Given the description of an element on the screen output the (x, y) to click on. 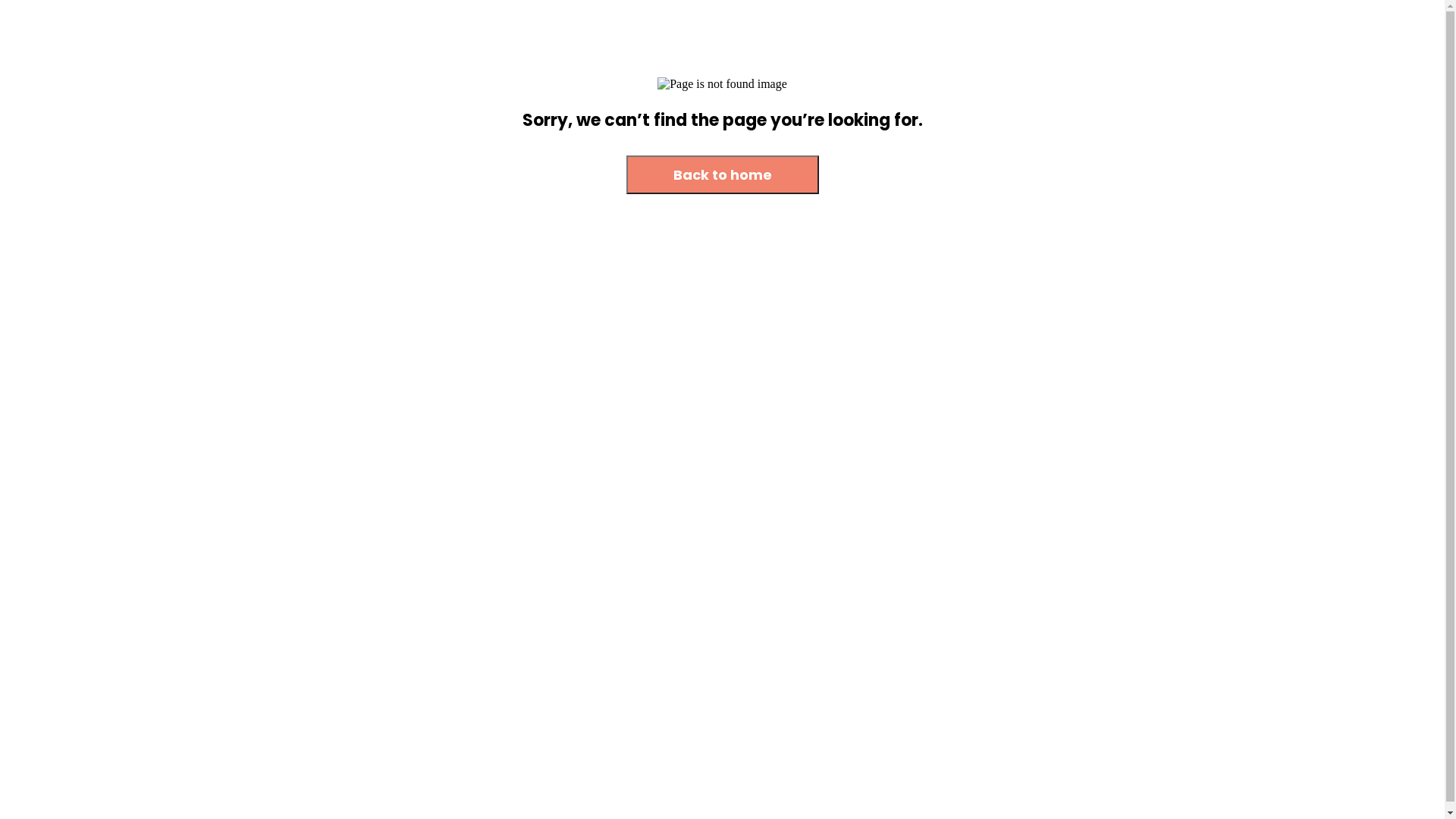
Back to home Element type: text (722, 174)
Back to home Element type: text (722, 175)
